Given the description of an element on the screen output the (x, y) to click on. 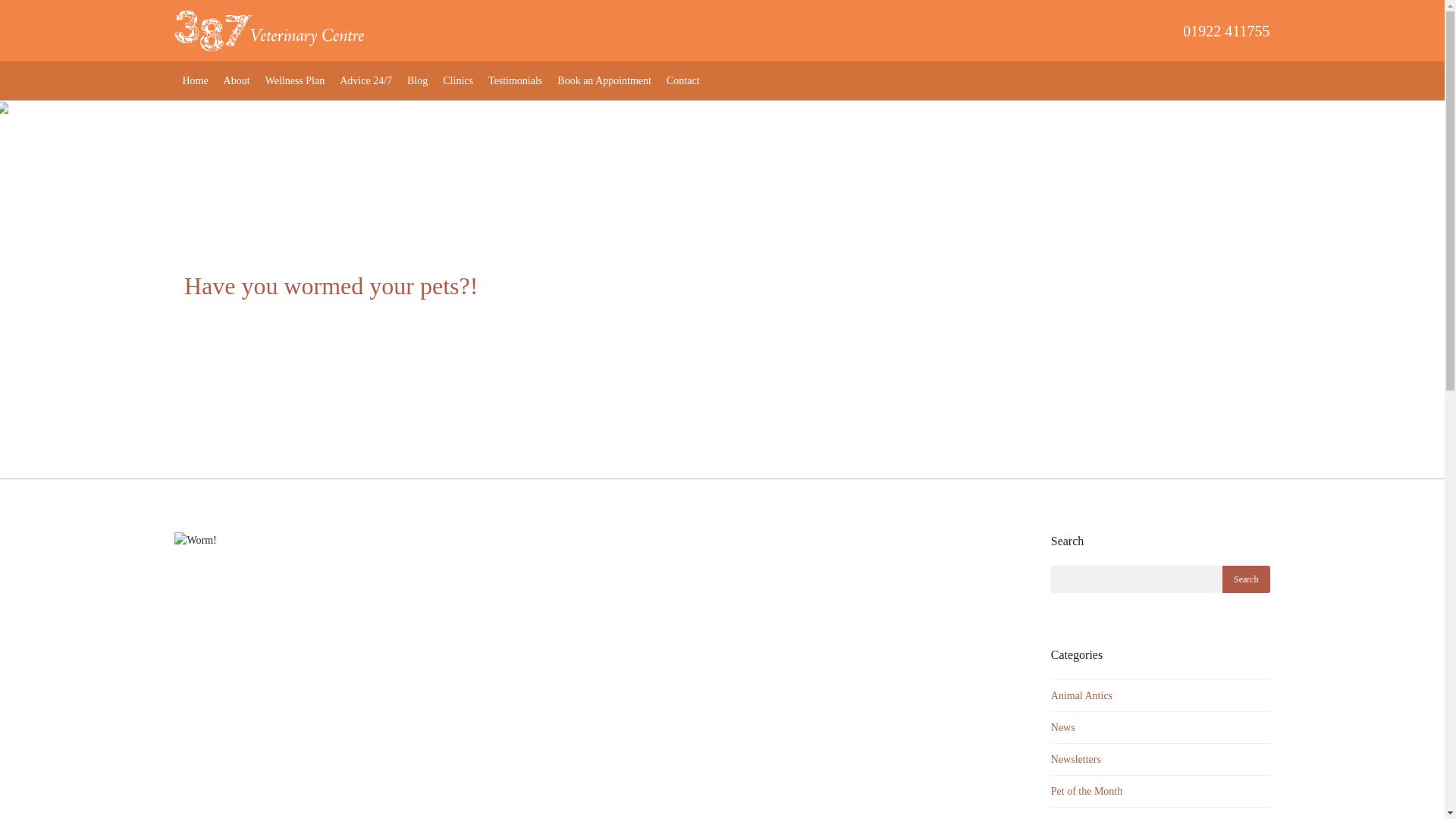
Home (194, 80)
About (236, 80)
Blog (416, 80)
Wellness Plan (295, 80)
Search (1246, 578)
Book an Appointment (604, 80)
01922 411755 (816, 30)
Contact (683, 80)
Testimonials (515, 80)
Clinics (457, 80)
